Given the description of an element on the screen output the (x, y) to click on. 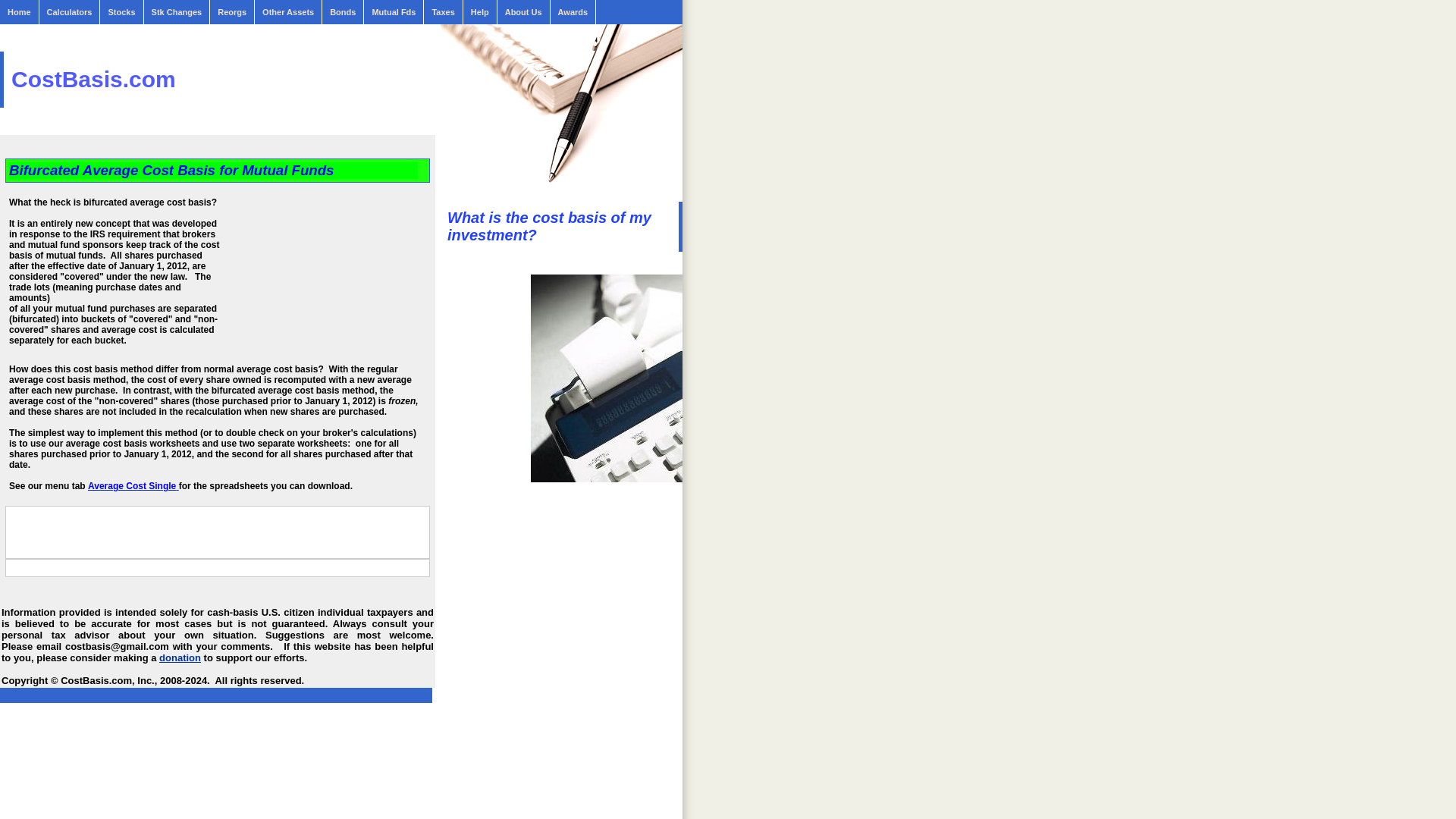
Calculators (69, 12)
Home (19, 12)
Stk Changes (177, 12)
Stocks (121, 12)
